Given the description of an element on the screen output the (x, y) to click on. 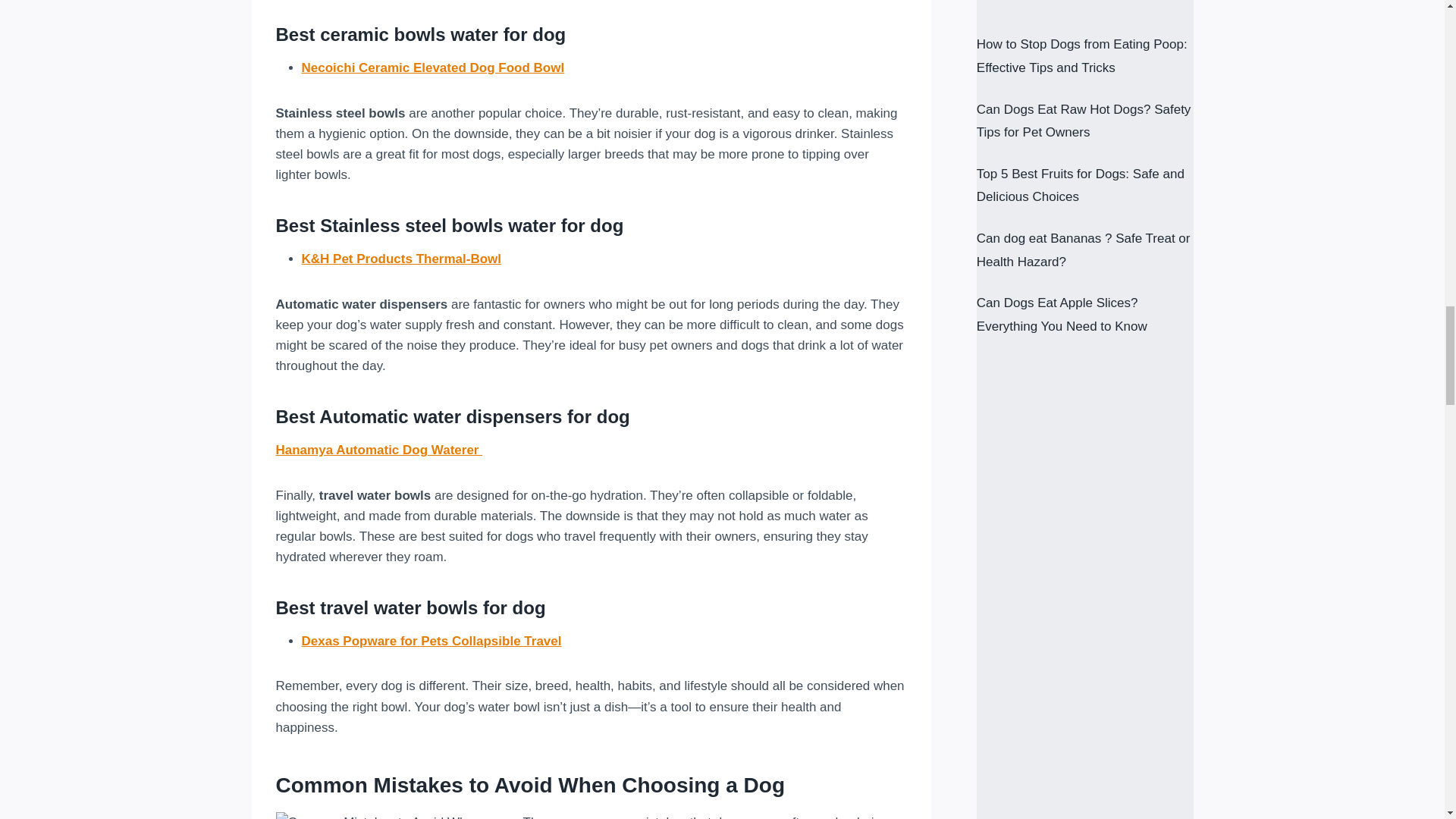
Hanamya Automatic Dog Waterer  (379, 450)
Dexas Popware for Pets Collapsible Travel (431, 640)
Necoichi Ceramic Elevated Dog Food Bowl (432, 67)
